Given the description of an element on the screen output the (x, y) to click on. 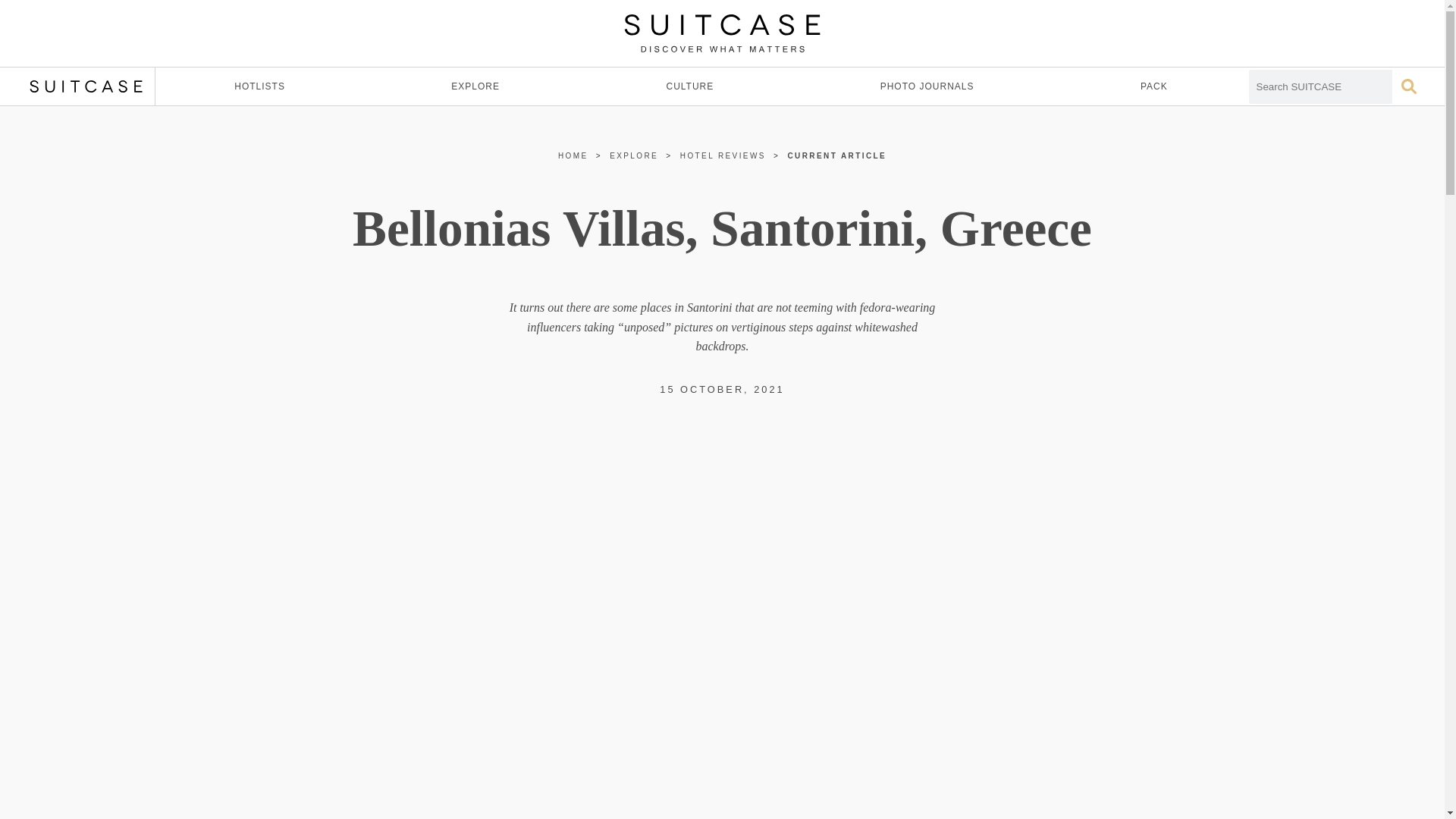
EXPLORE (475, 85)
EXPLORE (634, 155)
CULTURE (689, 85)
HOTLISTS (259, 85)
PHOTO JOURNALS (927, 85)
PACK (1153, 85)
HOTEL REVIEWS (722, 155)
CURRENT ARTICLE (836, 155)
HOME (572, 155)
